Given the description of an element on the screen output the (x, y) to click on. 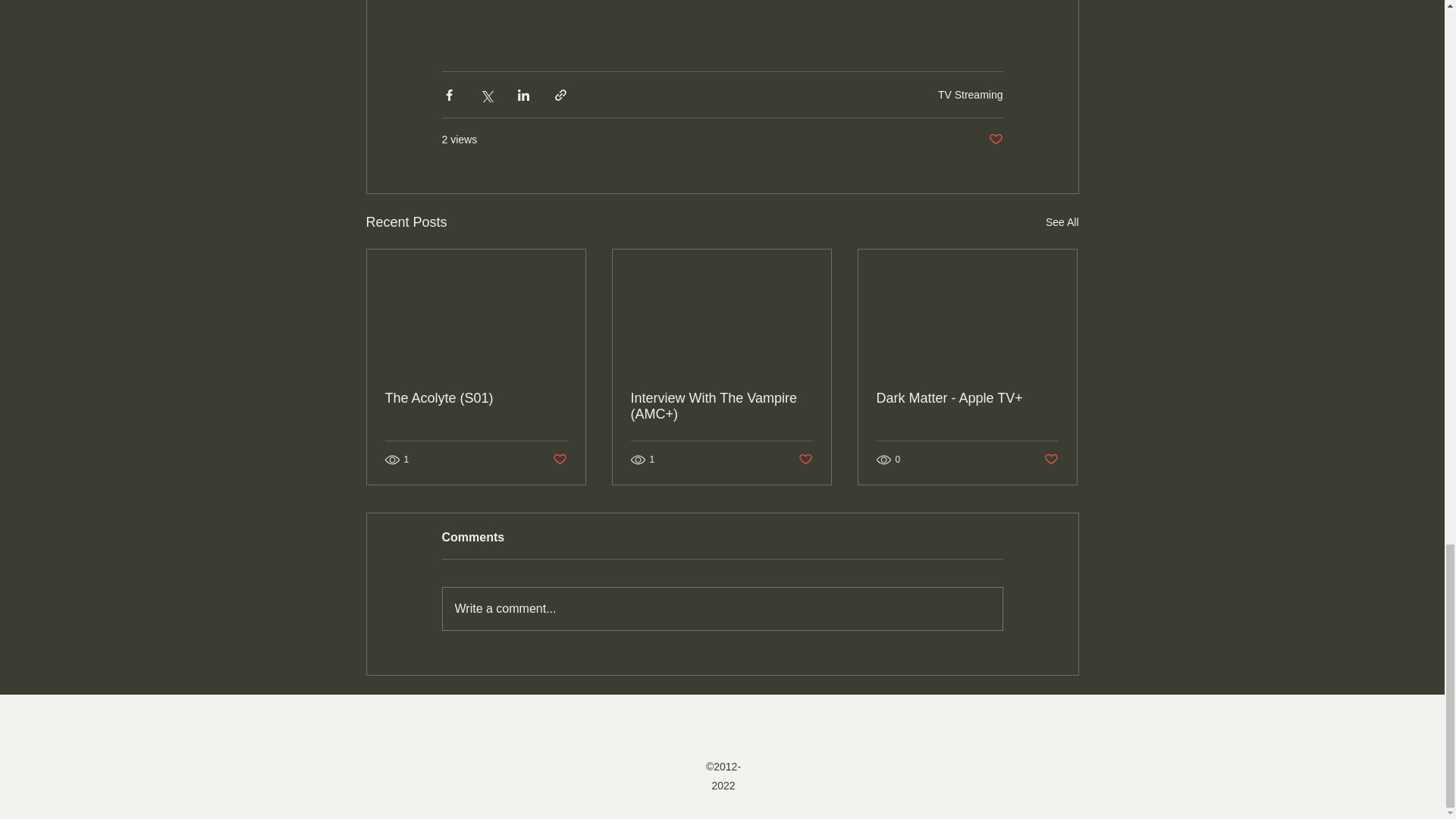
Post not marked as liked (804, 459)
TV Streaming (970, 94)
Write a comment... (722, 608)
Post not marked as liked (558, 459)
See All (1061, 222)
Post not marked as liked (1050, 459)
Post not marked as liked (995, 139)
